Given the description of an element on the screen output the (x, y) to click on. 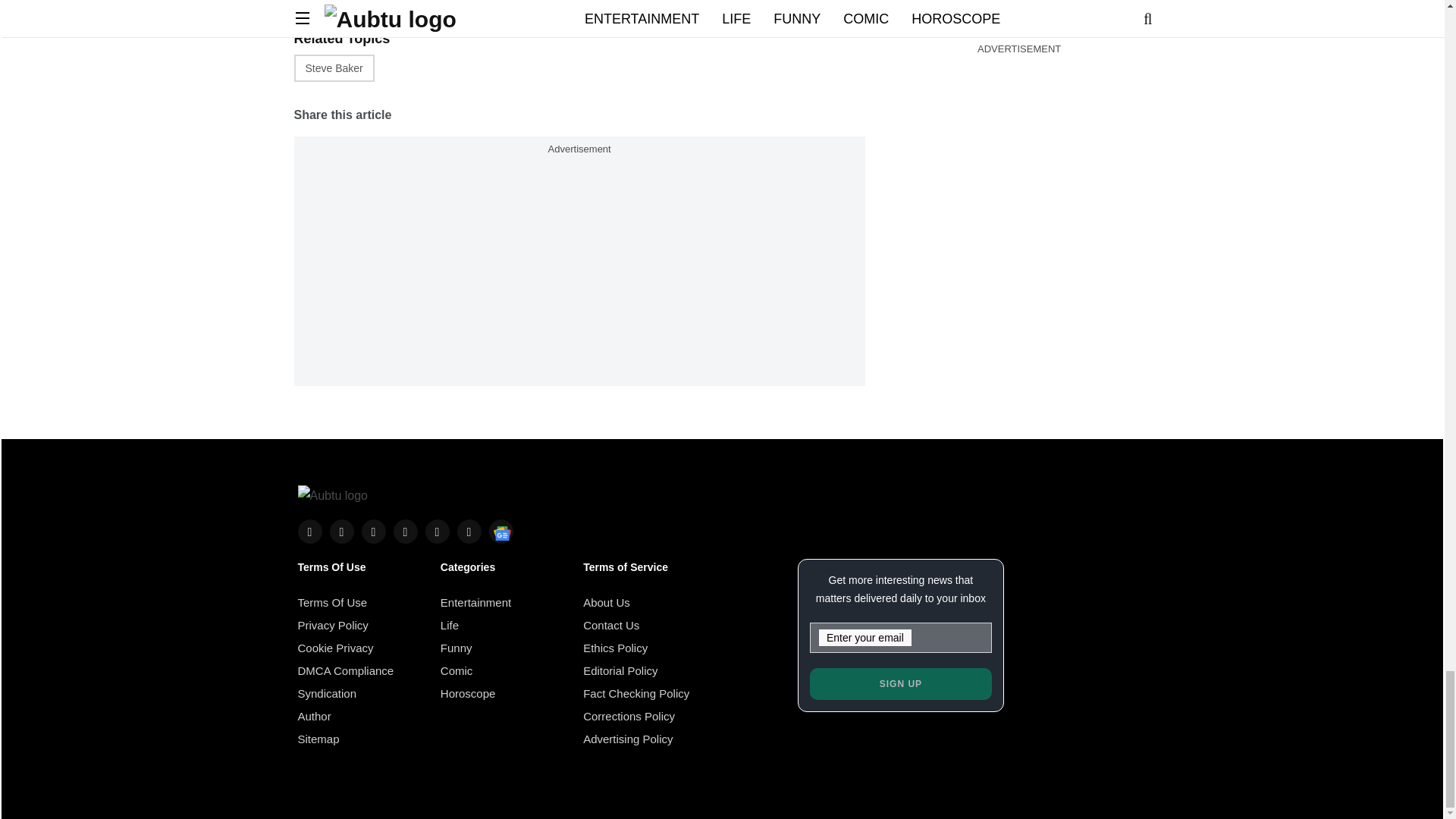
pinterest (436, 531)
twitter (341, 531)
rss (499, 531)
youtube (373, 531)
linkedin (404, 531)
facebook (309, 531)
rss (468, 531)
